Given the description of an element on the screen output the (x, y) to click on. 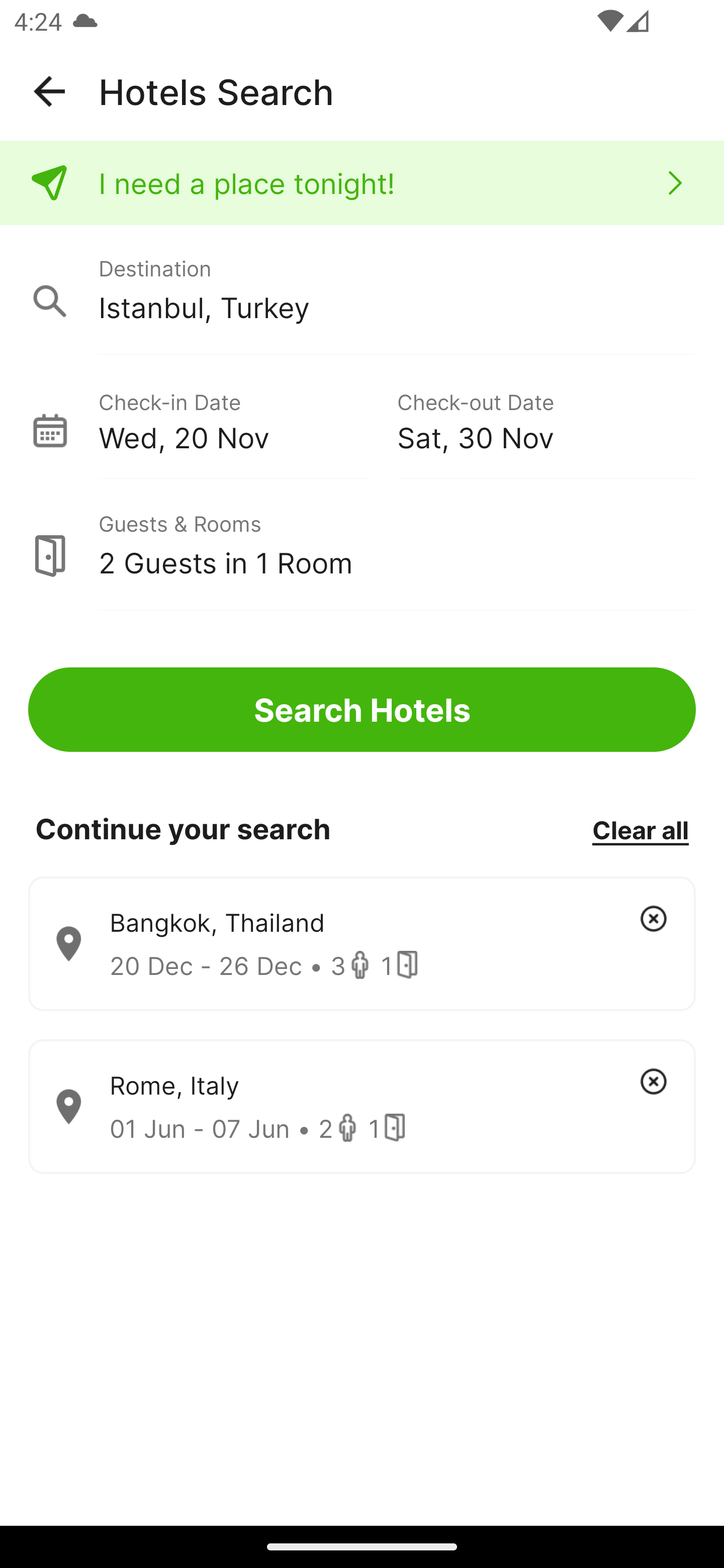
I need a place tonight! (362, 183)
Destination Istanbul, Turkey (362, 290)
Check-in Date Wed, 20 Nov (247, 418)
Check-out Date Sat, 30 Nov (546, 418)
Guests & Rooms 2 Guests in 1 Room (362, 545)
Search Hotels (361, 709)
Clear all (640, 829)
Bangkok, Thailand 20 Dec - 26 Dec • 3  1  (361, 943)
Rome, Italy 01 Jun - 07 Jun • 2  1  (361, 1106)
